Given the description of an element on the screen output the (x, y) to click on. 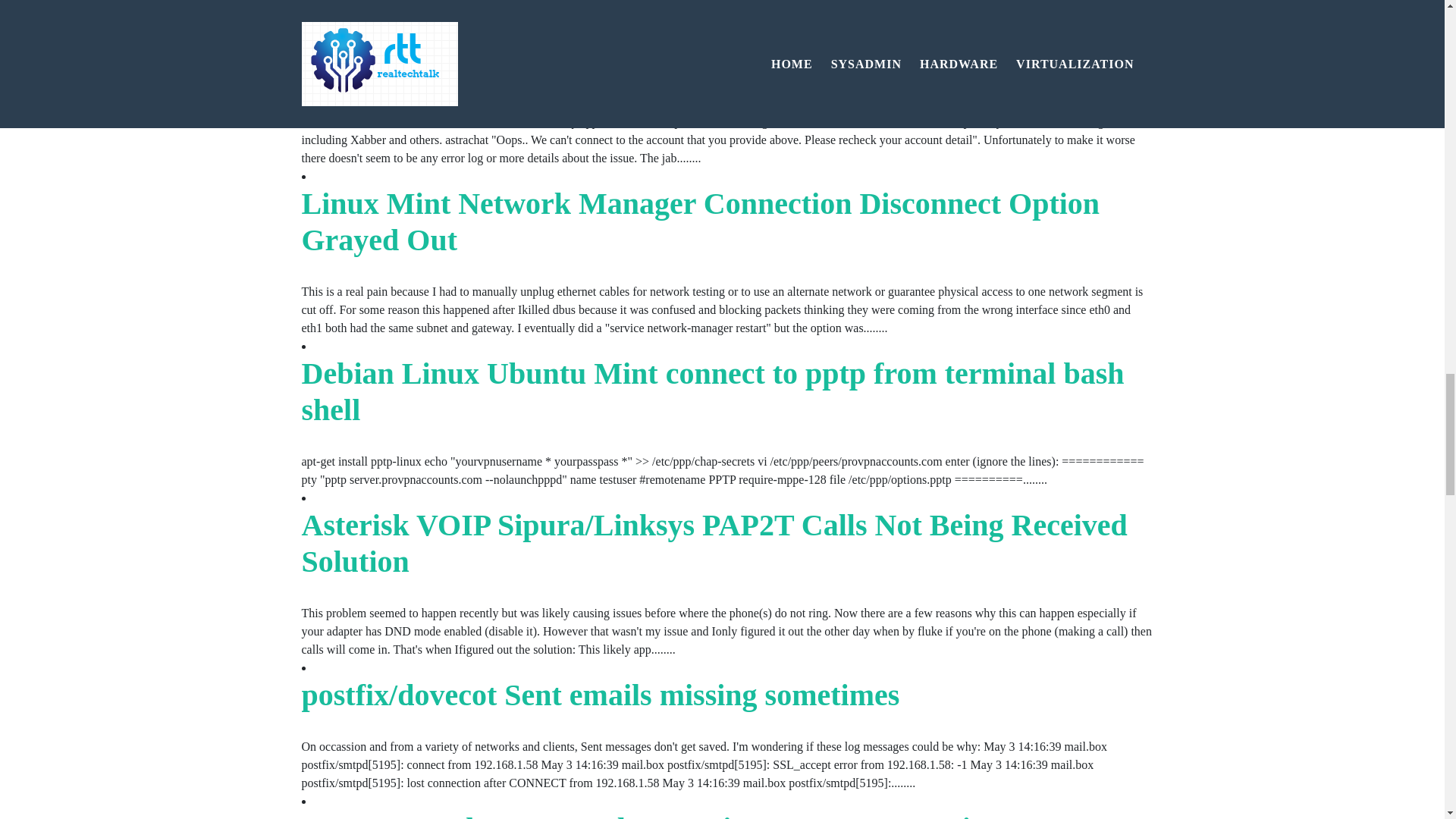
astrachat connection problems in Android 5.01 Lollipop (663, 69)
